Given the description of an element on the screen output the (x, y) to click on. 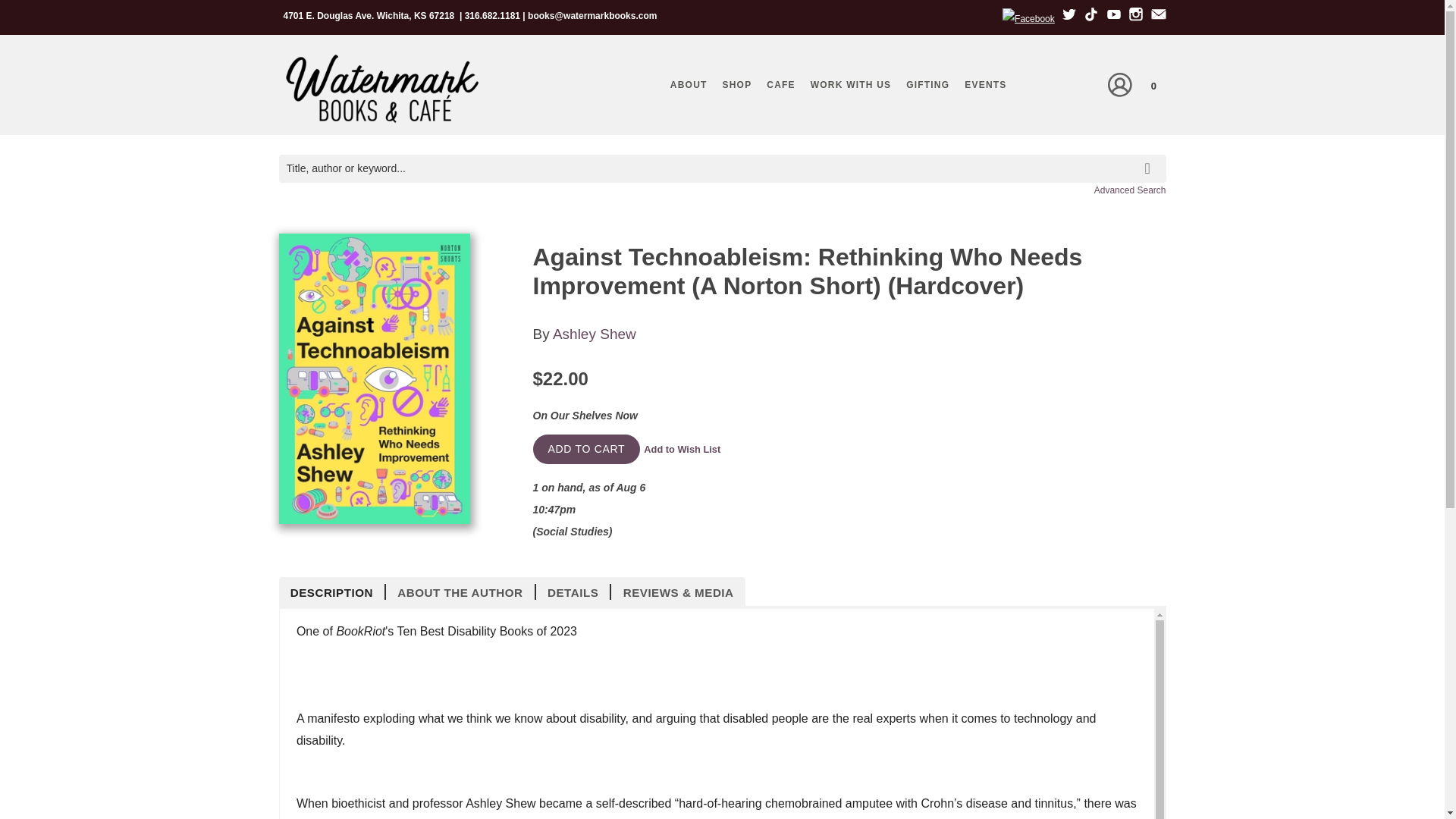
CAFE (780, 84)
SHOP (737, 84)
ABOUT (688, 84)
search (1150, 157)
Add to Cart (586, 449)
Home (381, 89)
Title, author or keyword... (722, 168)
